Given the description of an element on the screen output the (x, y) to click on. 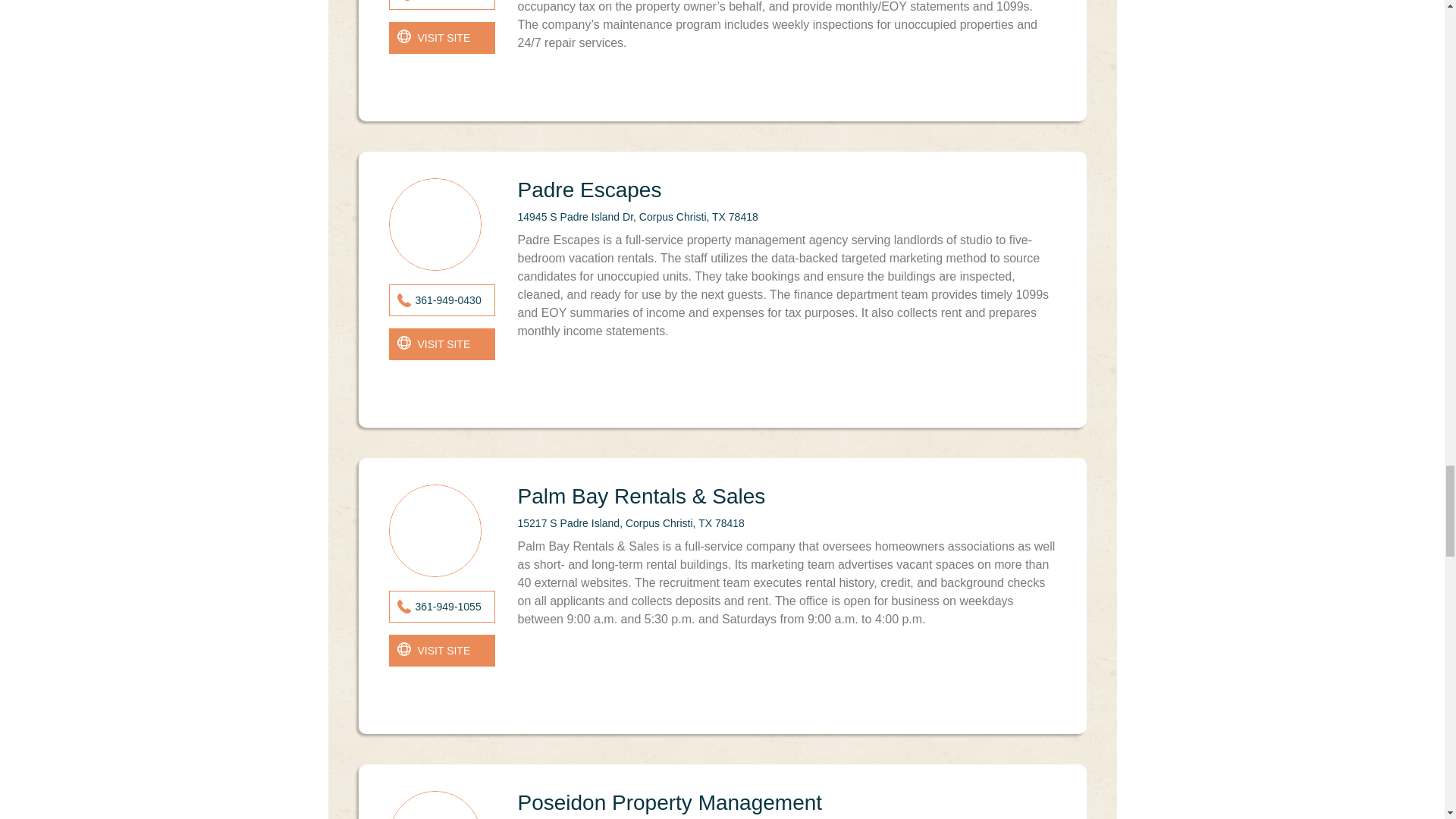
opens in a new window (441, 650)
opens in a new window (441, 38)
opens in a new window (441, 344)
